Given the description of an element on the screen output the (x, y) to click on. 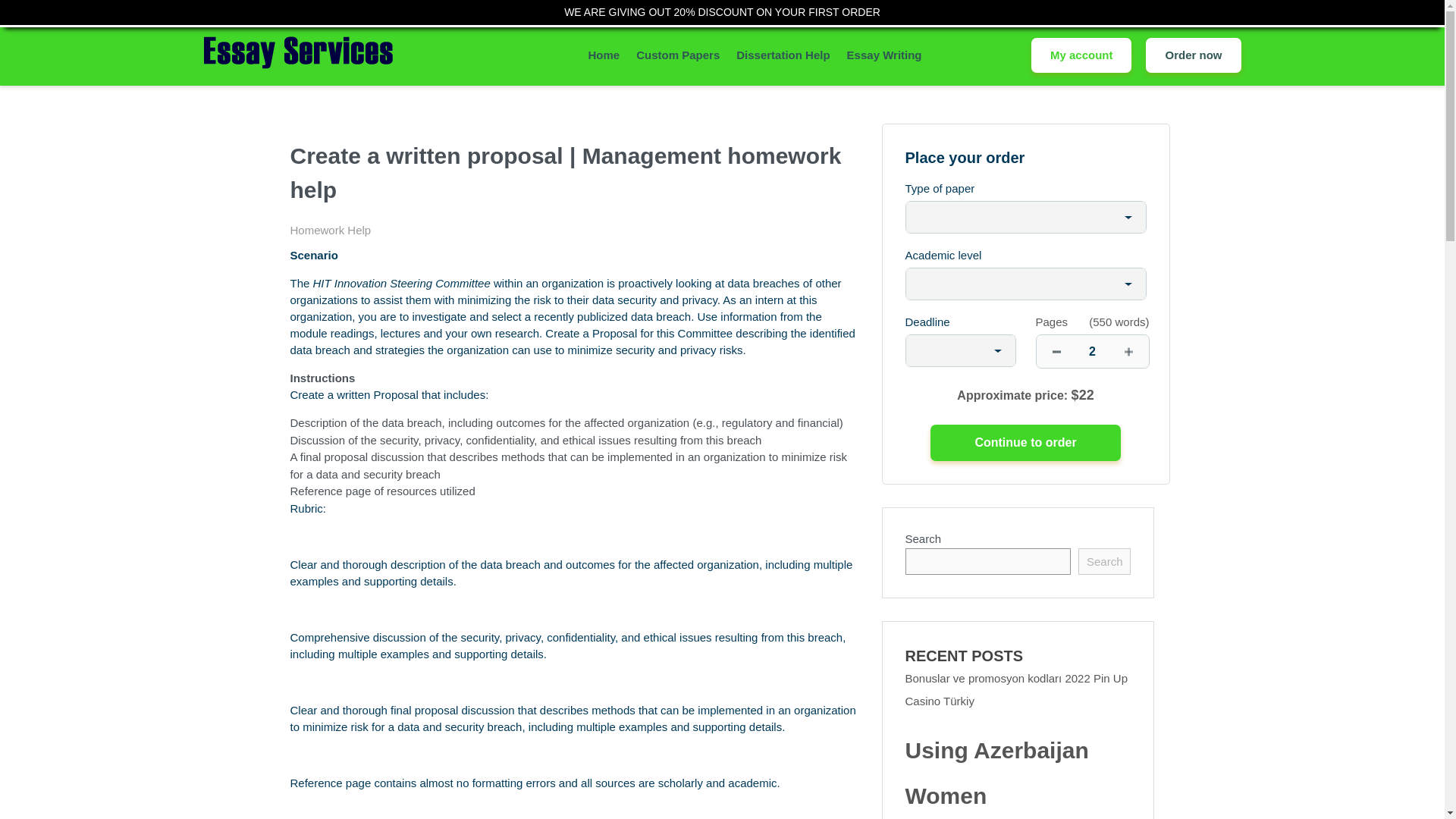
Essay Writing (884, 55)
Continue to order (1024, 443)
Home (604, 55)
Search (1104, 560)
2 (1091, 350)
My account (1081, 54)
Using Azerbaijan Women (1018, 773)
Order now (1192, 54)
Continue to order (1024, 443)
Homework Help (330, 229)
Custom Papers (677, 55)
Dissertation Help (782, 55)
